Given the description of an element on the screen output the (x, y) to click on. 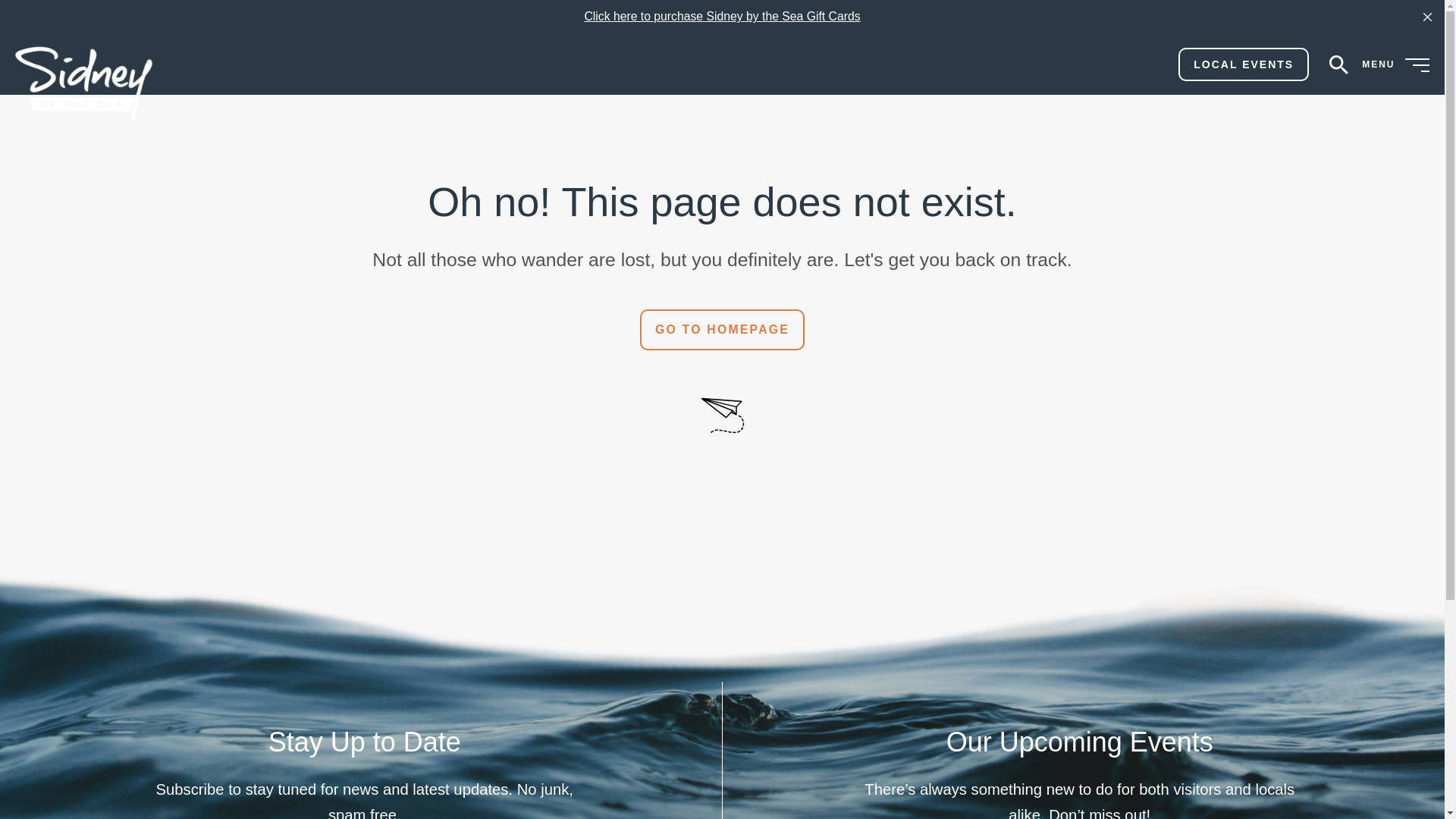
LOCAL EVENTS (1242, 64)
Click here to purchase Sidney by the Sea Gift Cards (721, 15)
Close (1427, 16)
GO TO HOMEPAGE (722, 329)
MENU (1395, 64)
search (1338, 63)
